Given the description of an element on the screen output the (x, y) to click on. 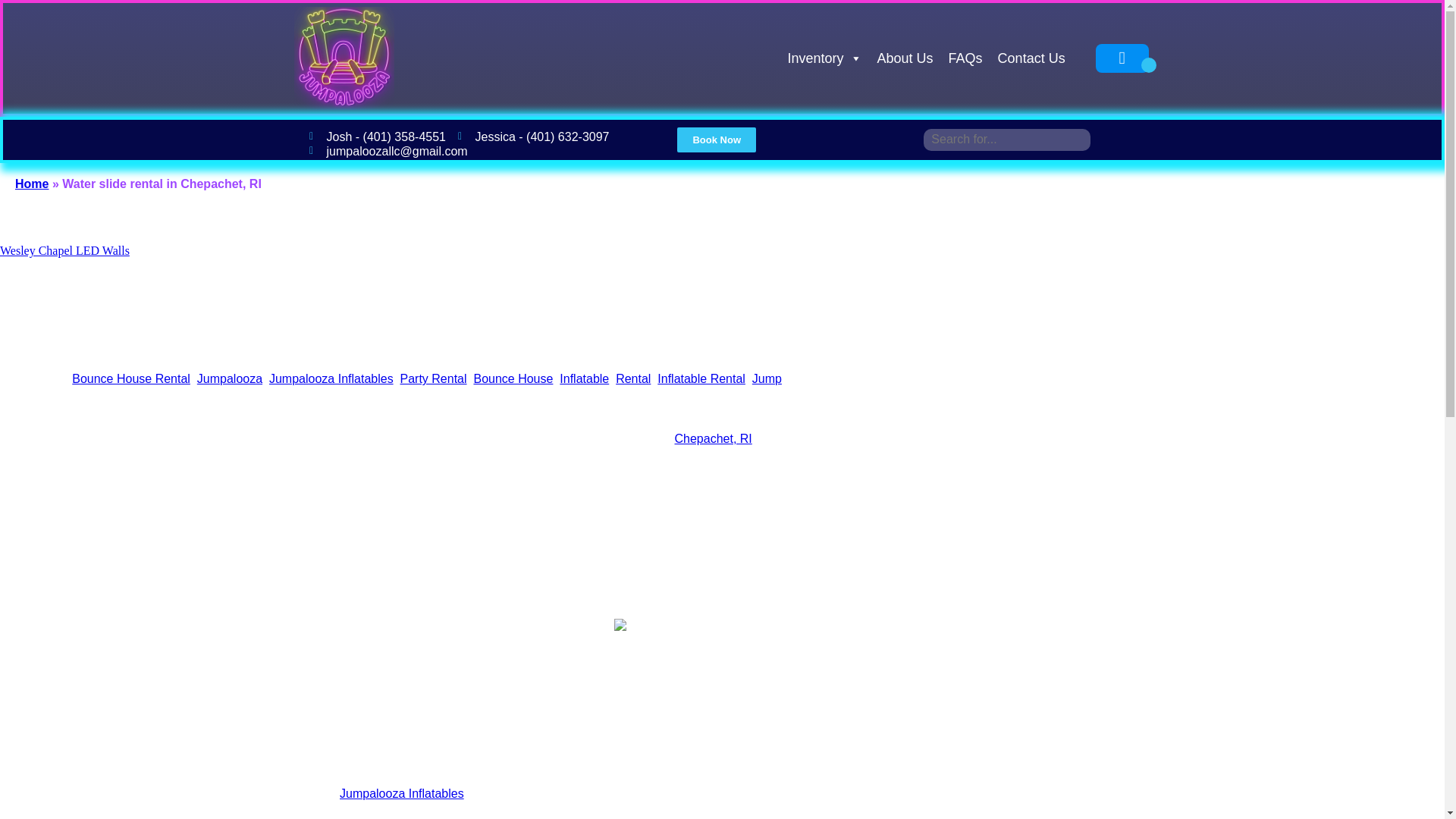
Bounce House (513, 378)
Bounce House Rental (130, 378)
Search (22, 9)
Inflatable Rental (701, 378)
Home (31, 183)
FAQs (965, 58)
Party Rental (433, 378)
Jumpalooza Inflatables (401, 793)
Jump (766, 378)
About Us (904, 58)
Jumpalooza (229, 378)
Chepachet, RI (712, 438)
Jumpalooza Inflatables (331, 378)
Inflatable (583, 378)
Book Now (716, 139)
